Given the description of an element on the screen output the (x, y) to click on. 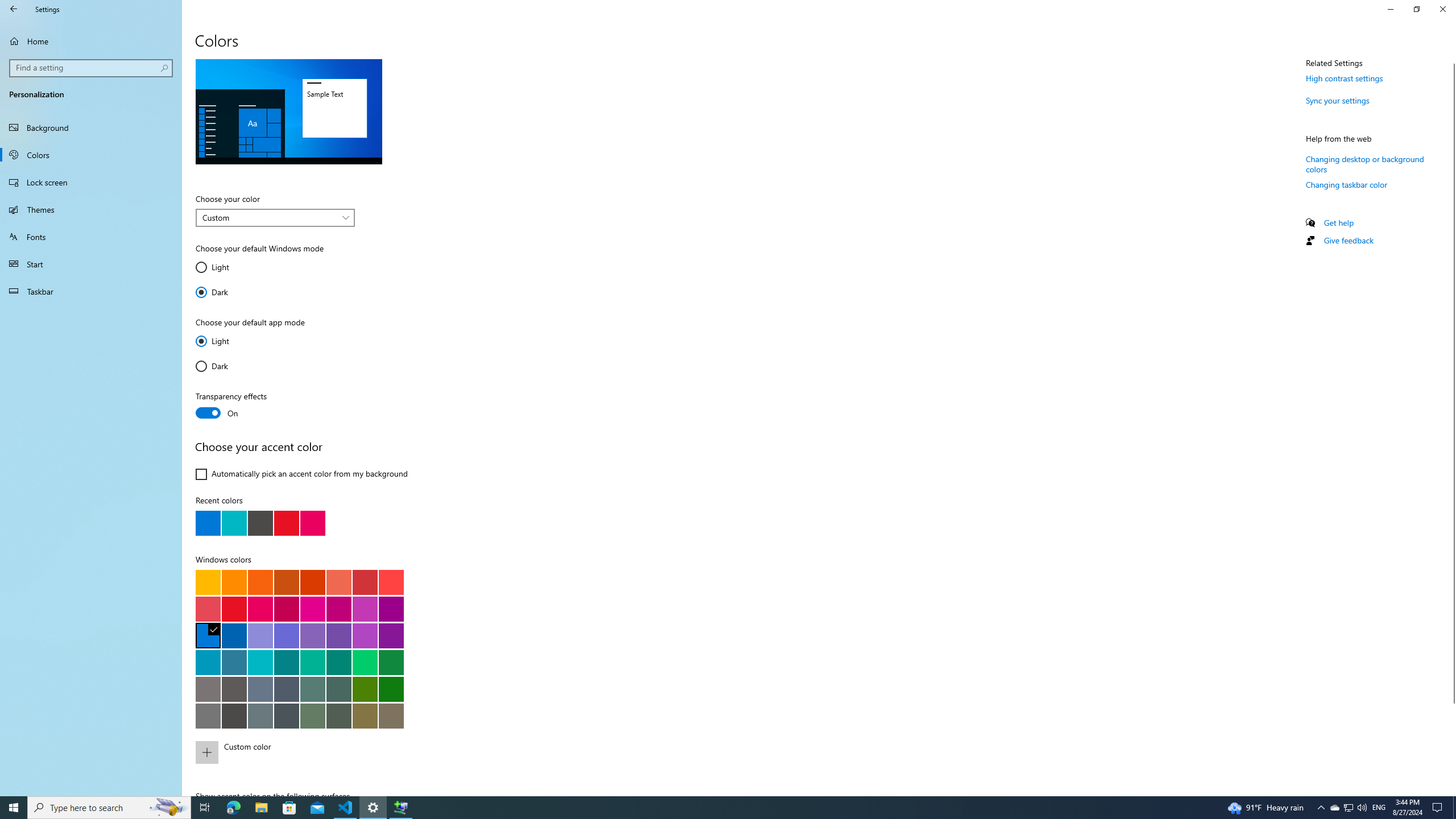
Plum (338, 608)
High contrast settings (1344, 77)
Lock screen (91, 181)
Iris pastel (311, 635)
Rust (311, 581)
